Given the description of an element on the screen output the (x, y) to click on. 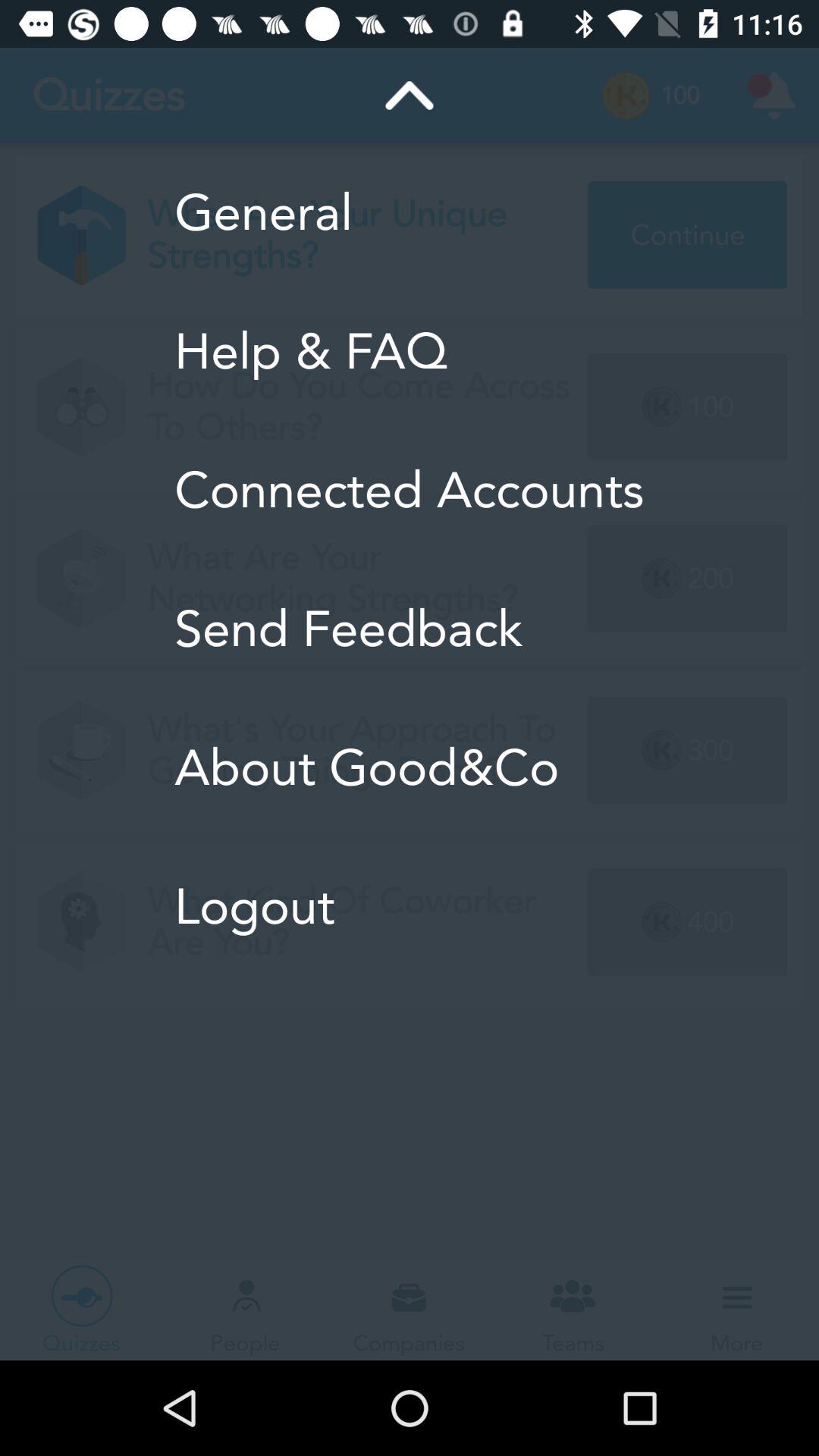
scroll to help & faq (408, 351)
